Given the description of an element on the screen output the (x, y) to click on. 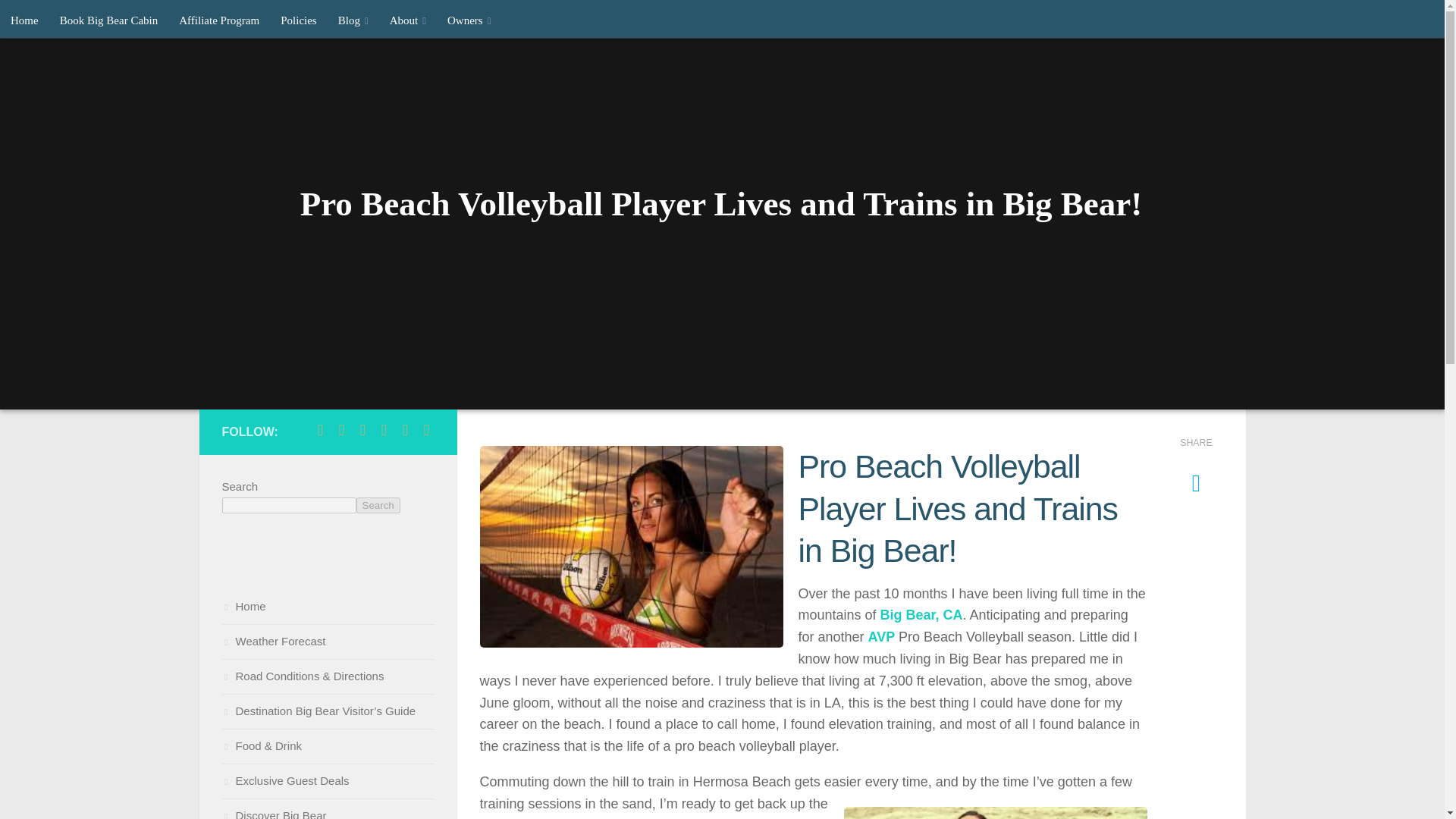
Blog (352, 20)
Book Big Bear Cabin (108, 20)
Destination Big Bear Home Page (24, 20)
Affiliate Program (218, 20)
Avp (882, 636)
Christal Engle Training in Big Bear (631, 546)
Policies (298, 20)
Fitness and Lifestyle in Big Bear (995, 812)
Home (24, 20)
Find your Big Bear Lake Cabin (108, 20)
